Given the description of an element on the screen output the (x, y) to click on. 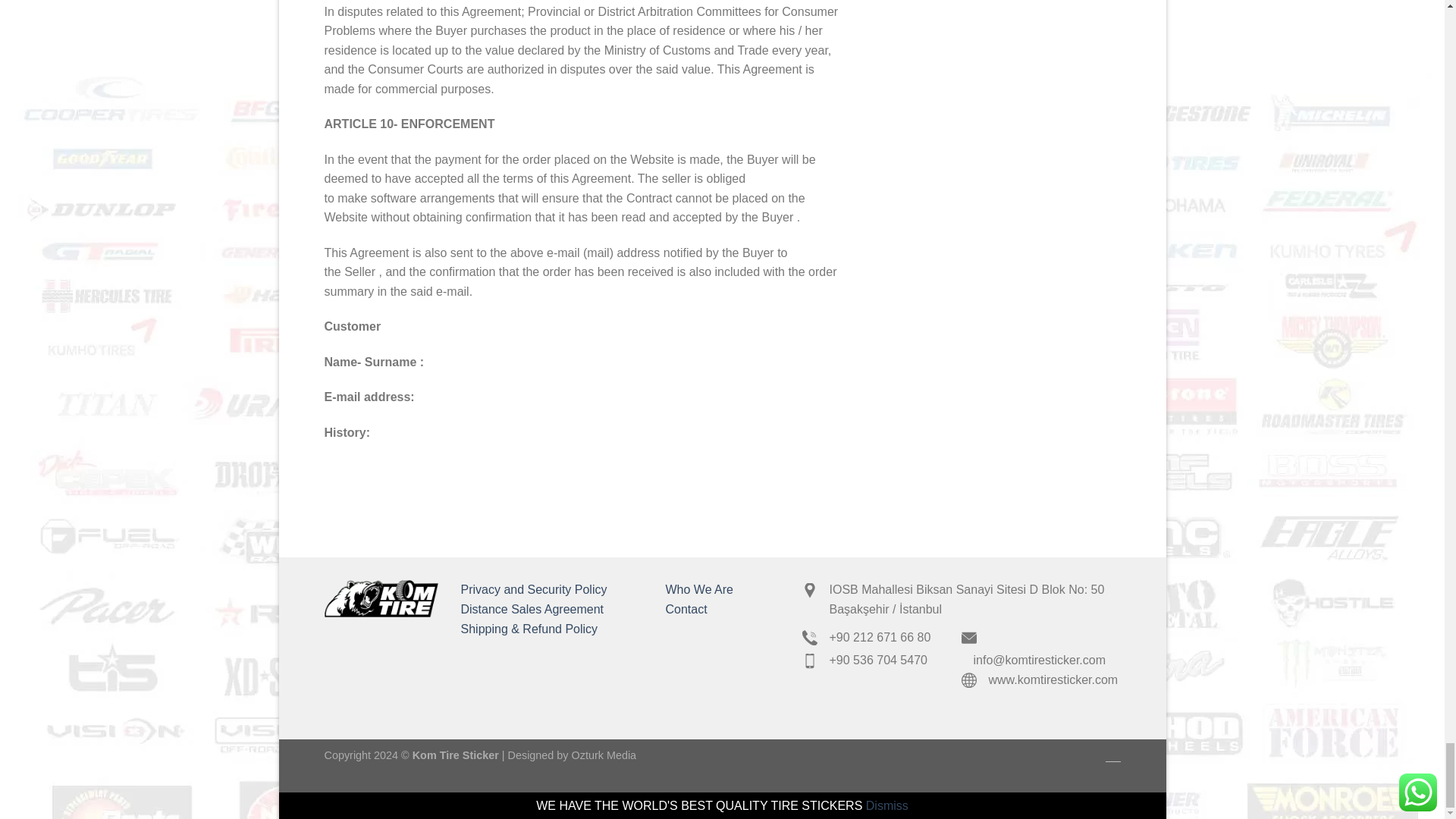
Contact (686, 608)
Ozturk Media (604, 755)
Privacy and Security Policy (534, 589)
Distance Sales Agreement (532, 608)
Who We Are (699, 589)
